Given the description of an element on the screen output the (x, y) to click on. 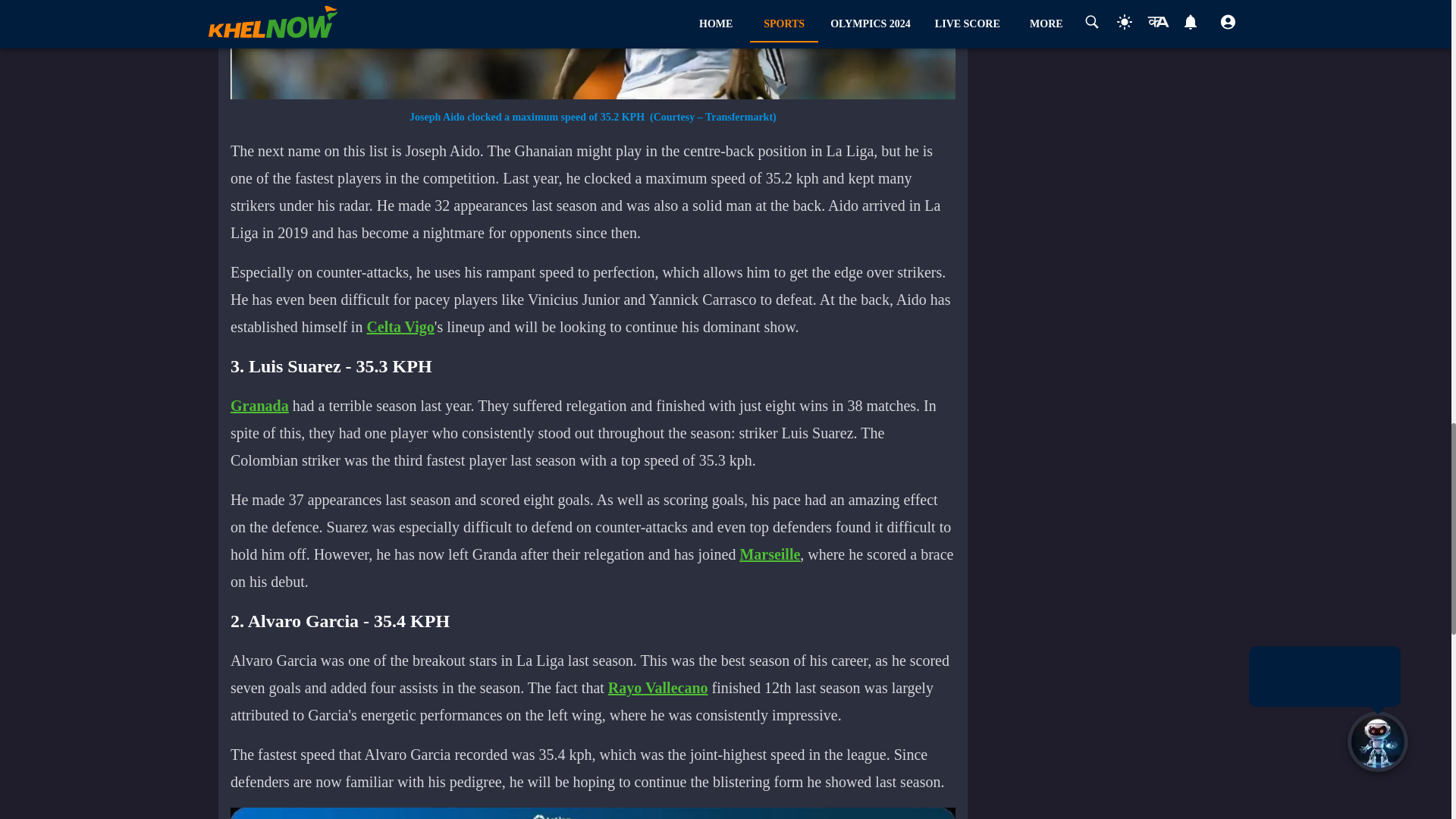
Celta Vigo (399, 326)
Granada (259, 405)
Marseille (769, 554)
Rayo Vallecano (657, 687)
